Given the description of an element on the screen output the (x, y) to click on. 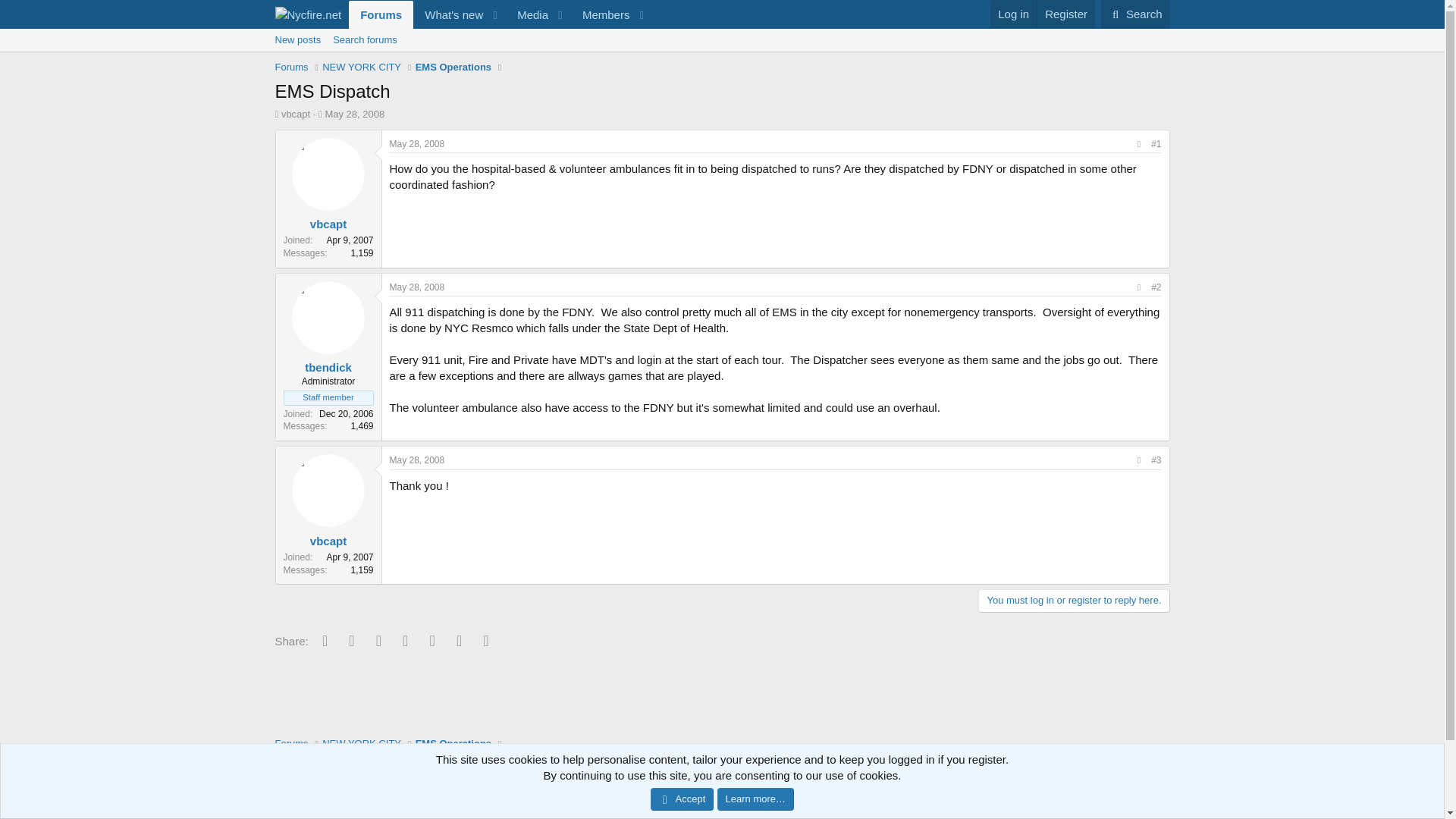
Search (1135, 14)
May 28, 2008 (354, 113)
Forums (720, 39)
Log in (381, 14)
vbcapt (1013, 13)
May 28, 2008 at 8:46 AM (295, 113)
May 28, 2008 at 8:00 PM (417, 143)
Media (417, 460)
EMS Operations (527, 14)
